Given the description of an element on the screen output the (x, y) to click on. 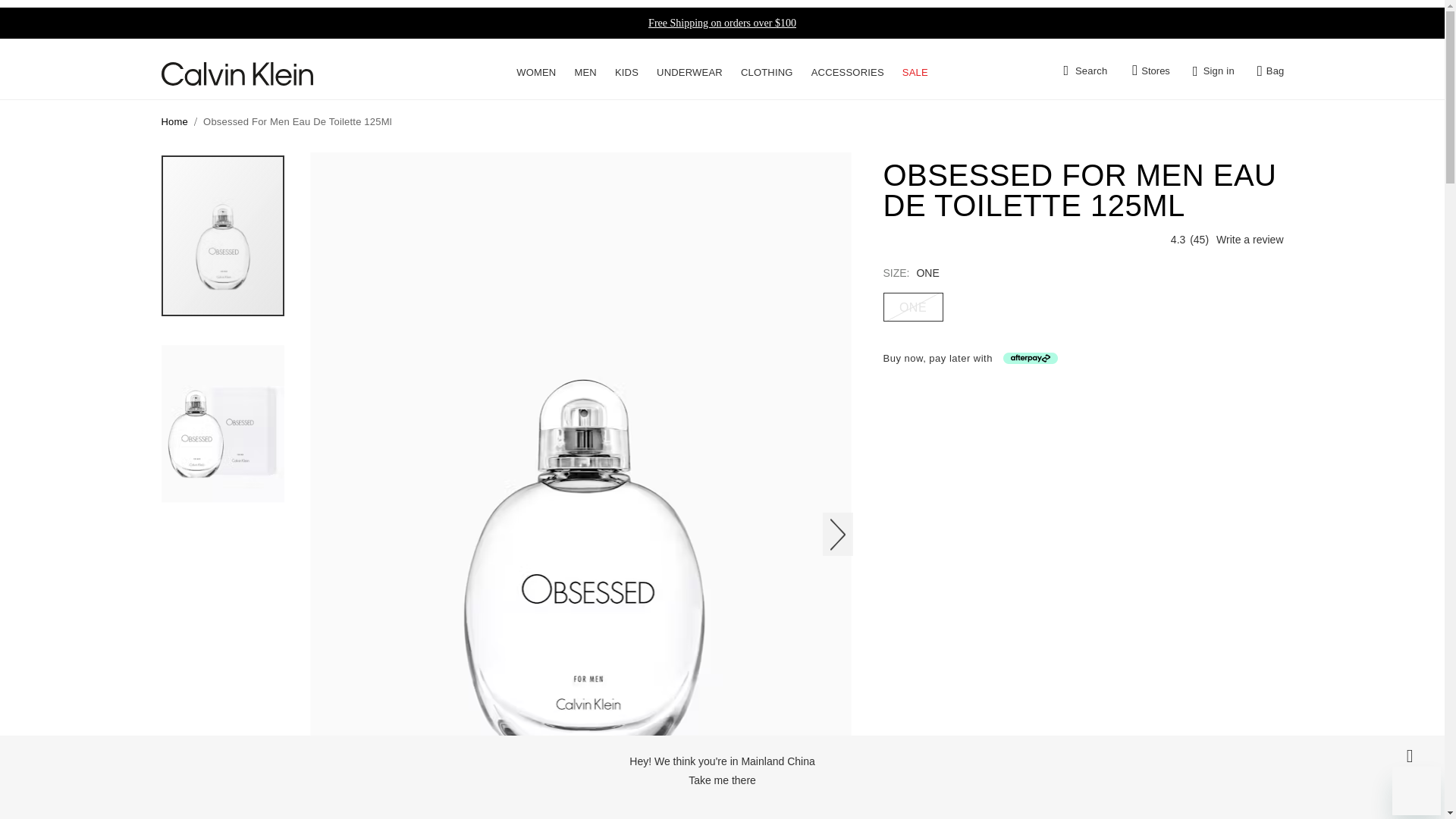
Go to Home Page (173, 121)
WOMEN (536, 71)
